Given the description of an element on the screen output the (x, y) to click on. 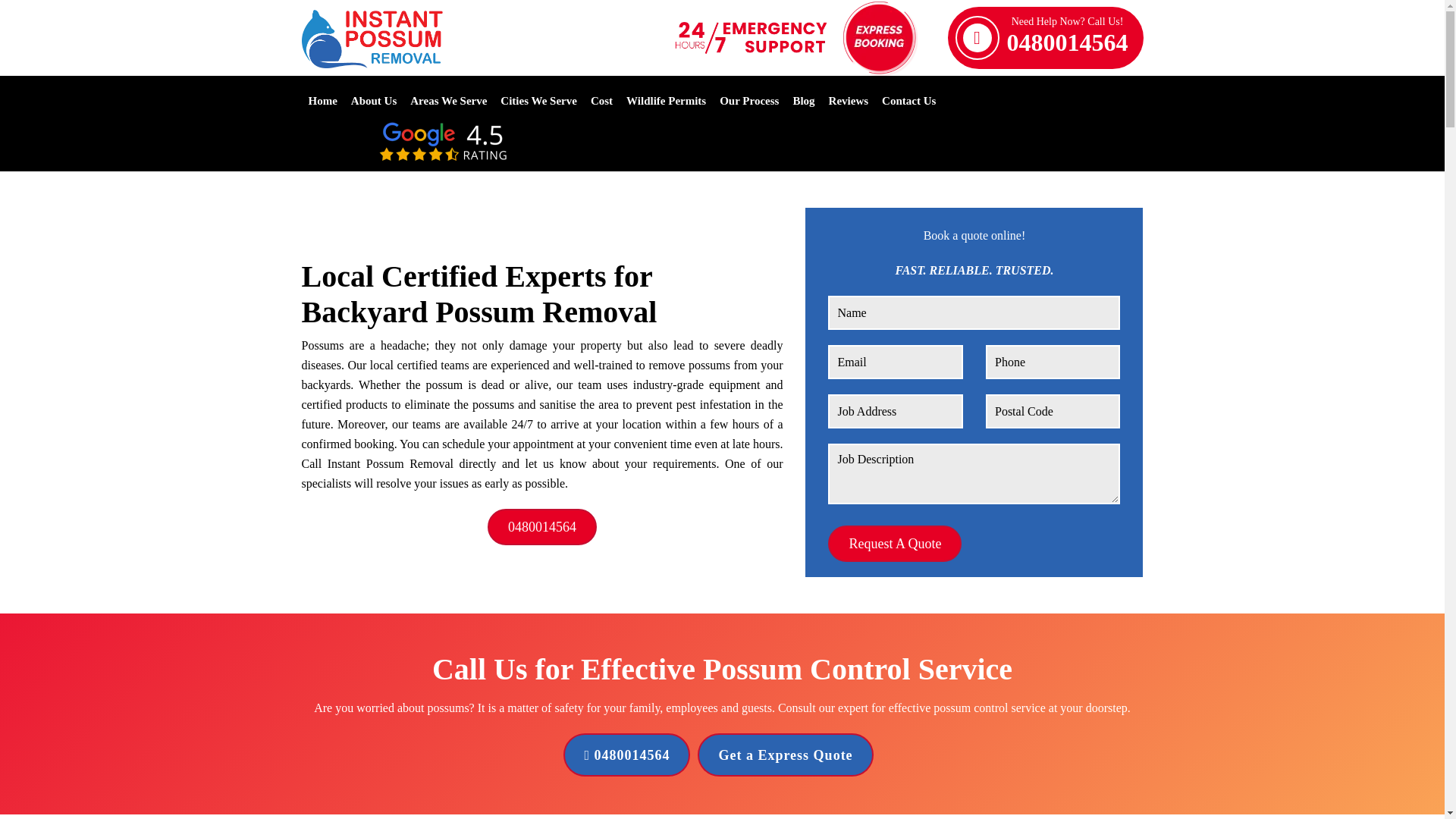
Contact Us (909, 100)
Get a Express Quote (784, 754)
Request A Quote (894, 543)
Cost (601, 100)
Blog (802, 100)
Our Process (748, 100)
0480014564 (626, 754)
0480014564 (541, 526)
Areas We Serve (448, 100)
About Us (373, 100)
Reviews (1067, 37)
Request A Quote (848, 100)
Home (894, 543)
Cities We Serve (321, 100)
